Given the description of an element on the screen output the (x, y) to click on. 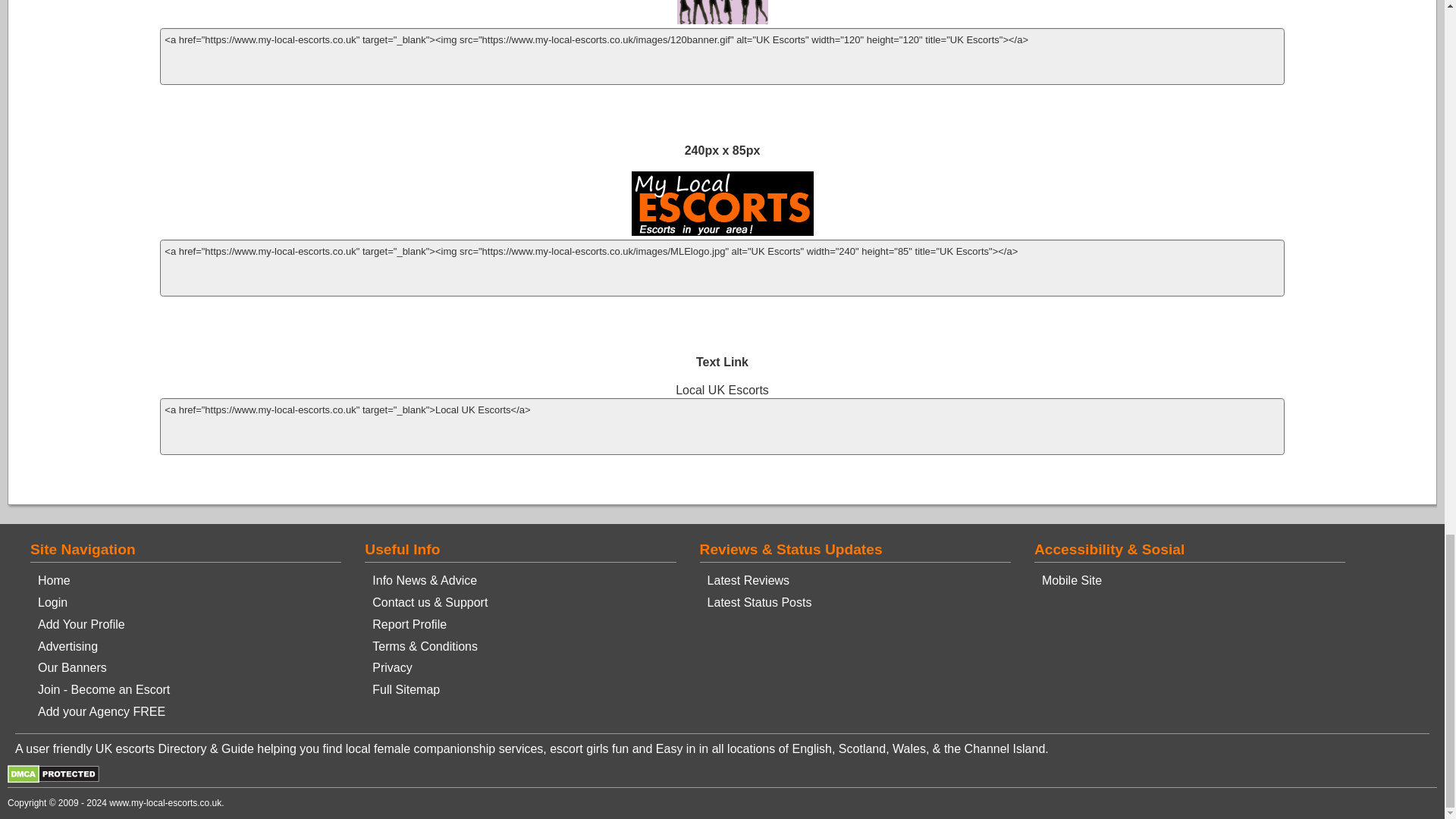
Add your Agency FREE (101, 711)
Full Sitemap (405, 689)
Local UK Escorts (721, 389)
Advertising (67, 645)
Add Your Profile (81, 624)
Privacy (392, 667)
Latest Reviews (748, 580)
DMCA.com Protection Status (53, 779)
Login (51, 602)
Our Banners (71, 667)
